Given the description of an element on the screen output the (x, y) to click on. 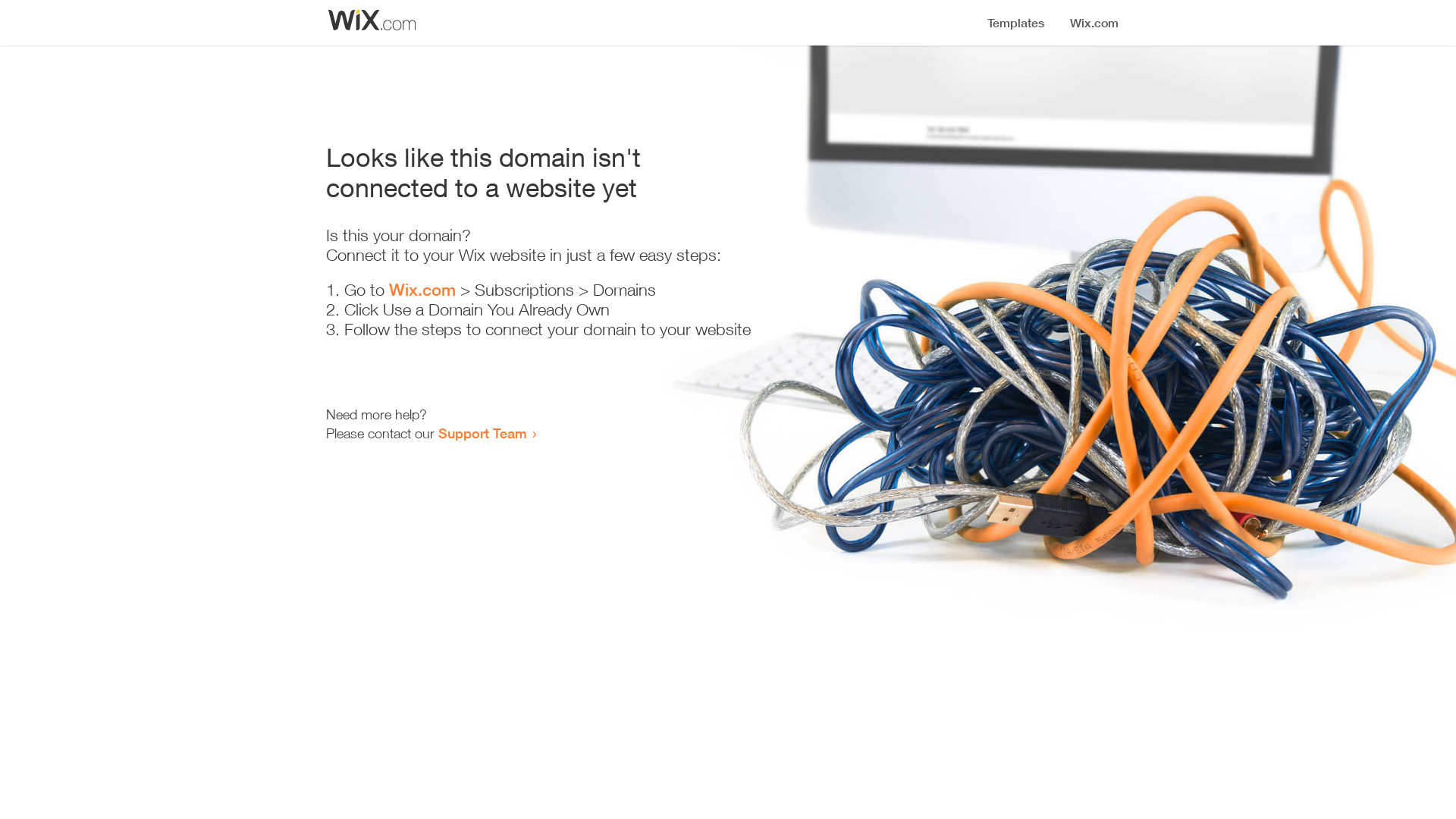
Support Team Element type: text (482, 432)
Wix.com Element type: text (422, 289)
